Given the description of an element on the screen output the (x, y) to click on. 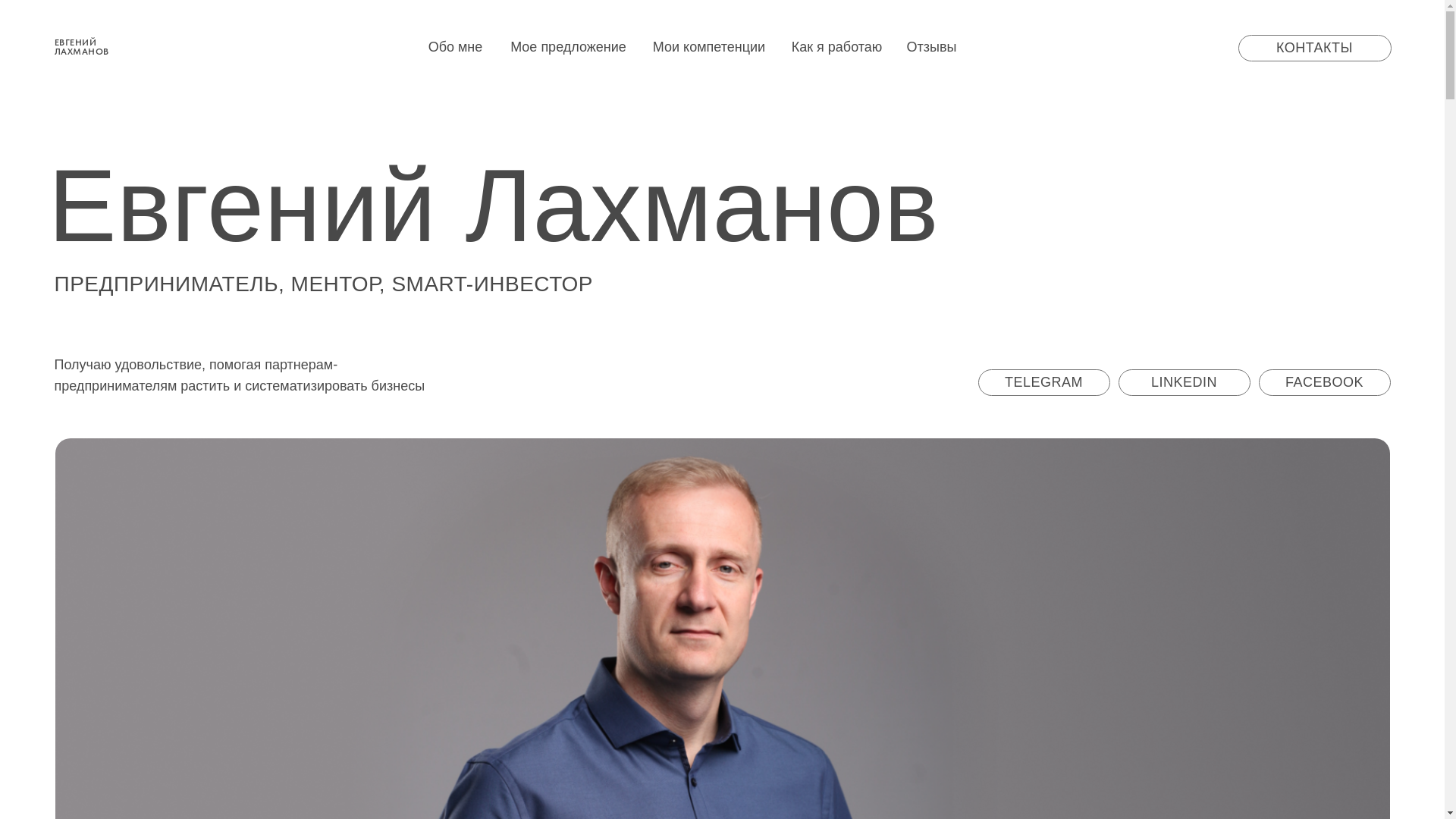
FACEBOOK Element type: text (1324, 382)
LINKEDIN Element type: text (1183, 382)
TELEGRAM Element type: text (1044, 382)
